Given the description of an element on the screen output the (x, y) to click on. 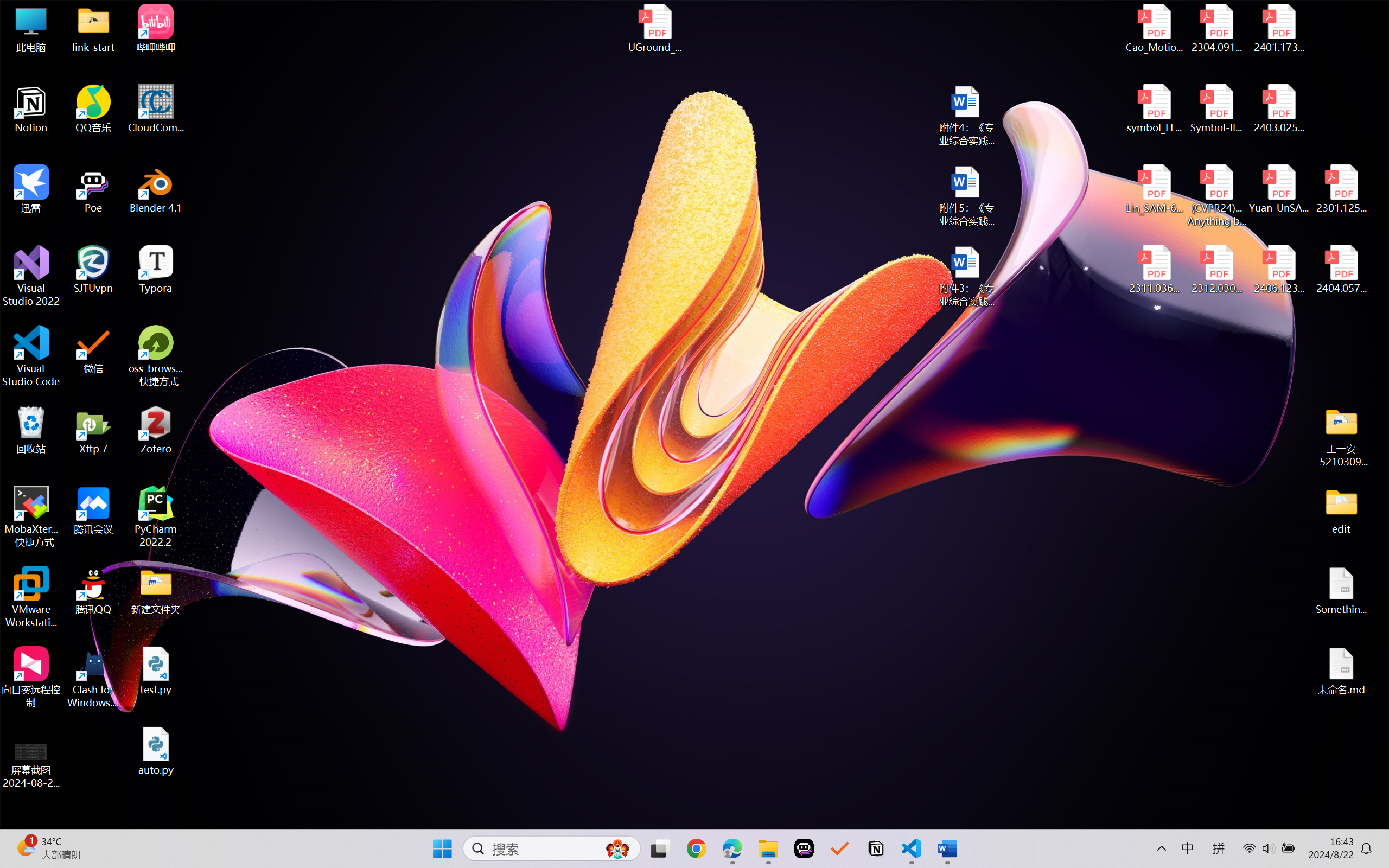
PyCharm 2022.2 (156, 516)
2401.17399v1.pdf (1278, 28)
2404.05719v1.pdf (1340, 269)
VMware Workstation Pro (31, 597)
